Given the description of an element on the screen output the (x, y) to click on. 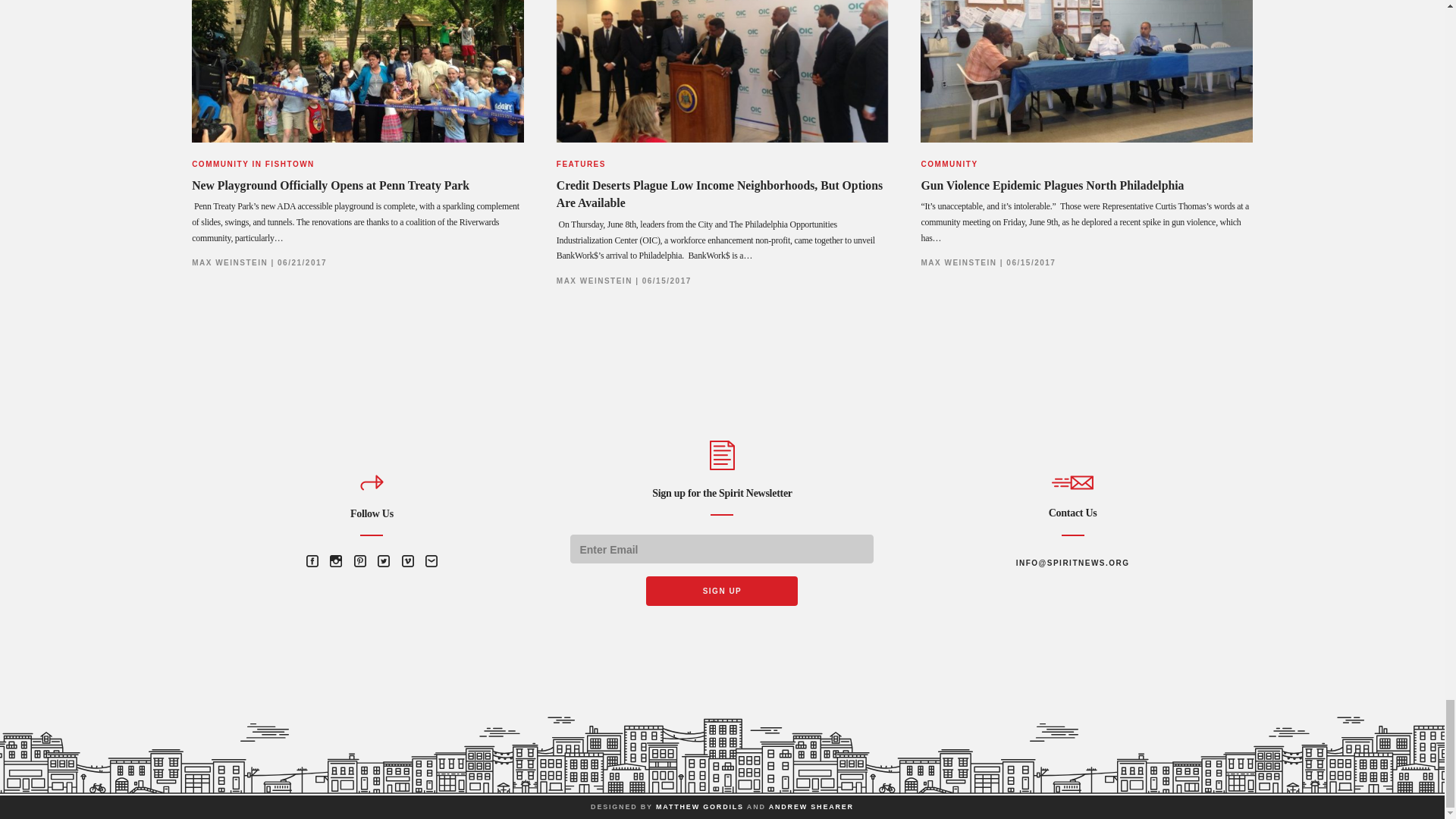
Sign Up (721, 591)
